Given the description of an element on the screen output the (x, y) to click on. 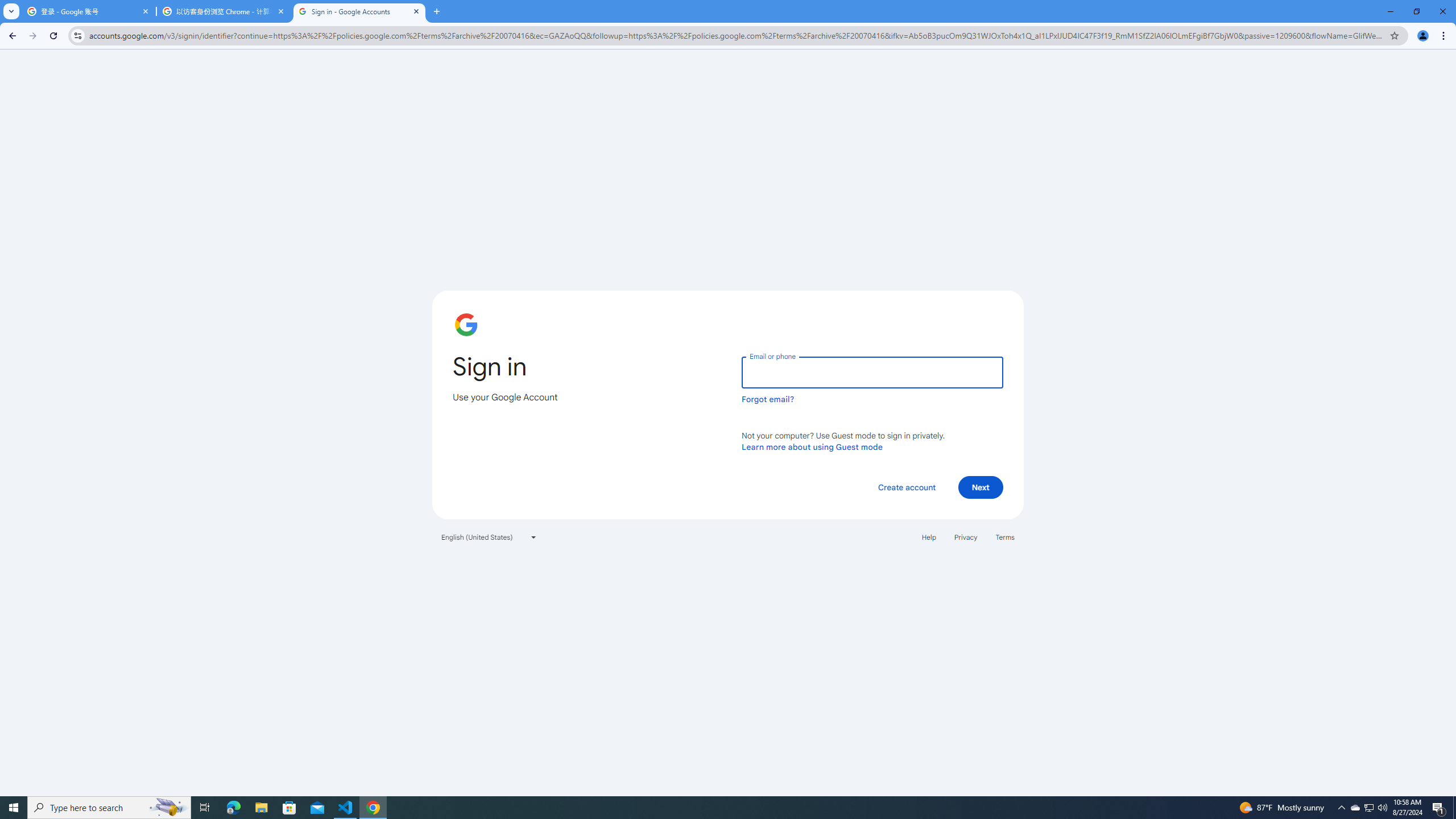
English (United States) (489, 536)
Learn more about using Guest mode (812, 446)
Create account (905, 486)
